Given the description of an element on the screen output the (x, y) to click on. 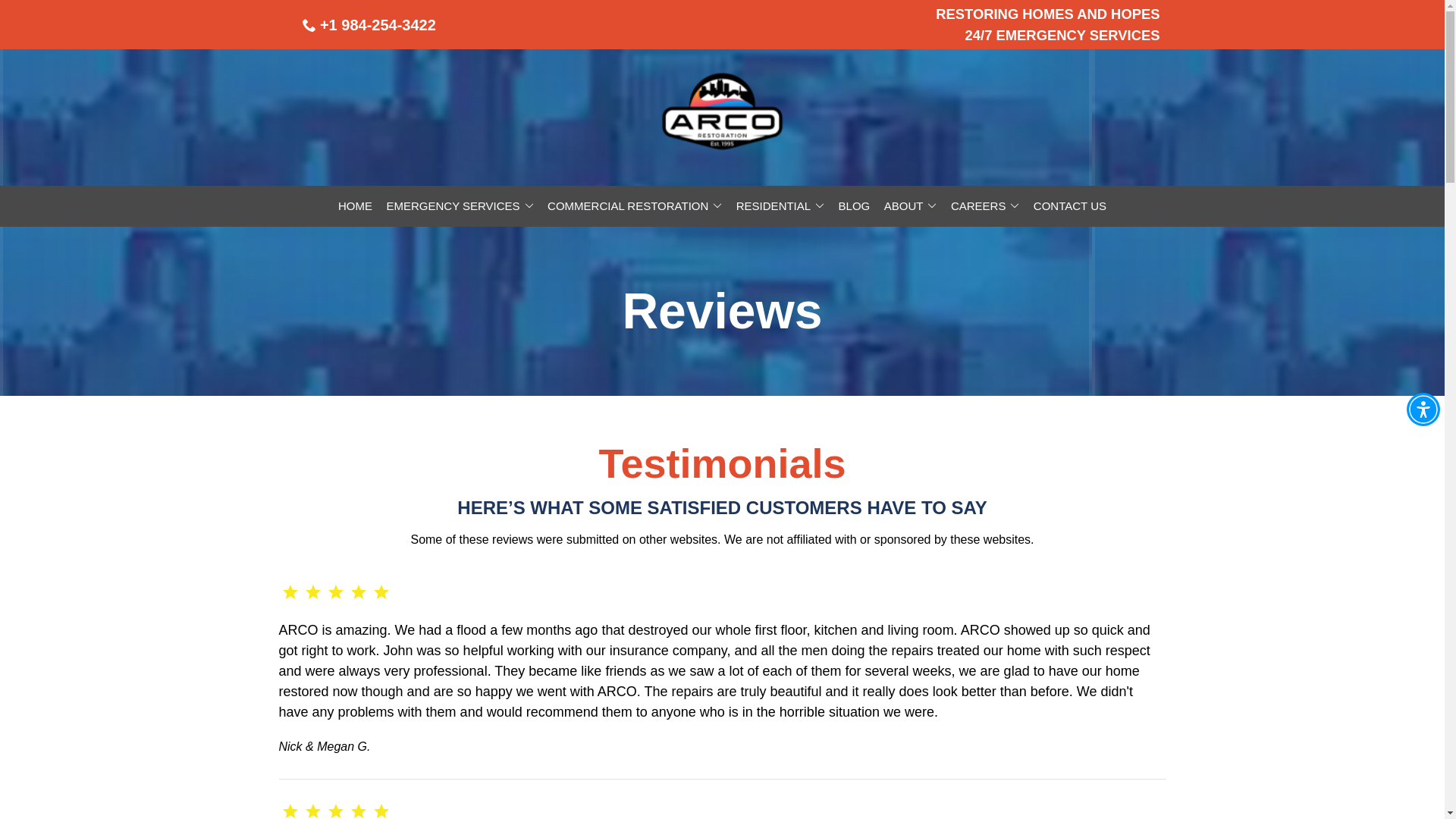
Accessibility Menu (1422, 409)
RESTORING HOMES AND HOPES (1047, 14)
